Given the description of an element on the screen output the (x, y) to click on. 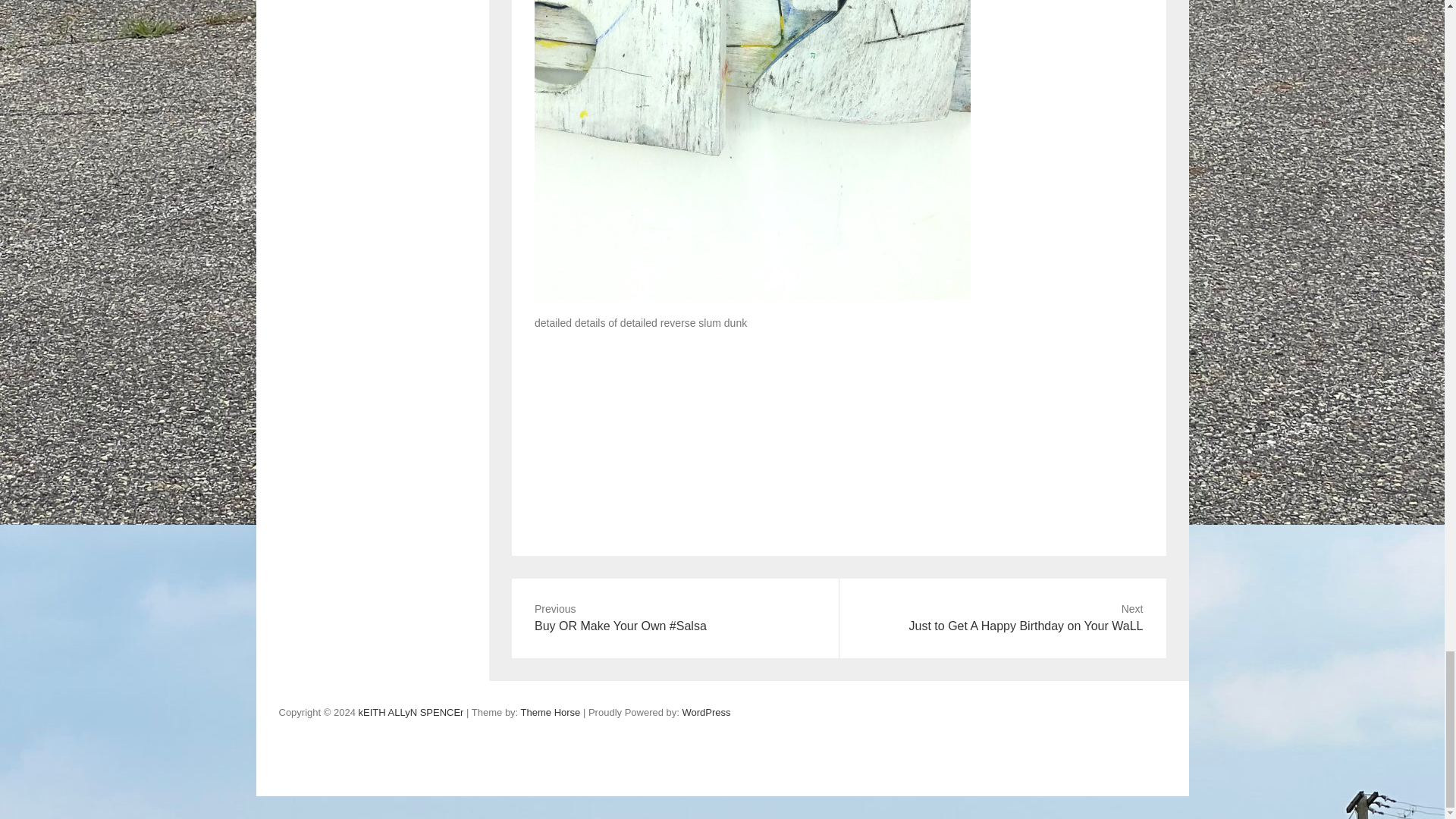
kEITH ALLyN SPENCEr (410, 712)
Theme Horse (1002, 618)
WordPress (550, 712)
